Given the description of an element on the screen output the (x, y) to click on. 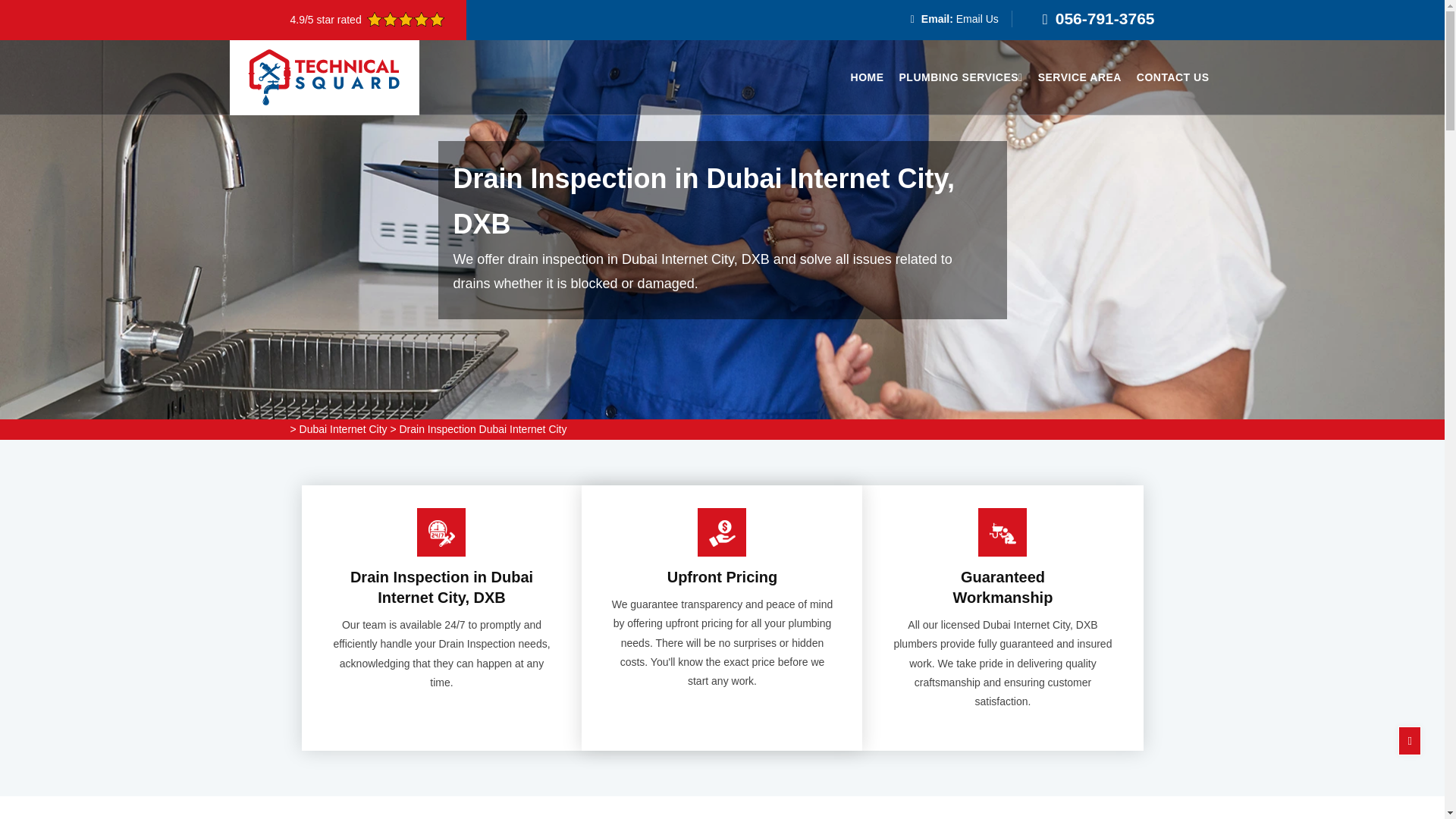
056-791-3765 (1104, 18)
PLUMBING SERVICES (961, 77)
HOME (866, 77)
Email Us (977, 19)
